Given the description of an element on the screen output the (x, y) to click on. 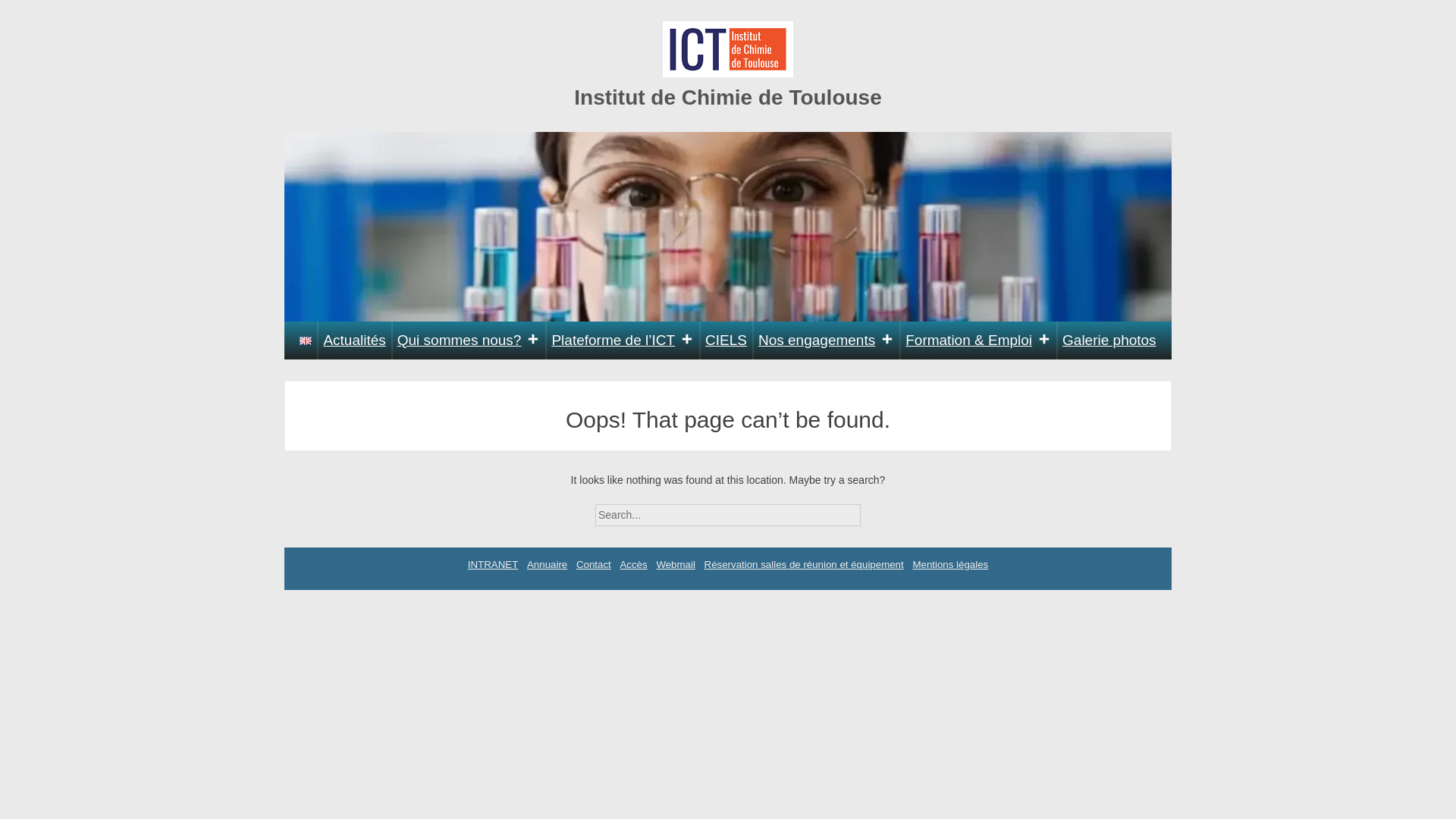
Search (873, 509)
Nos engagements (825, 340)
Search (873, 509)
Qui sommes nous? (468, 340)
Institut de Chimie de Toulouse (727, 97)
CIELS (726, 340)
